Given the description of an element on the screen output the (x, y) to click on. 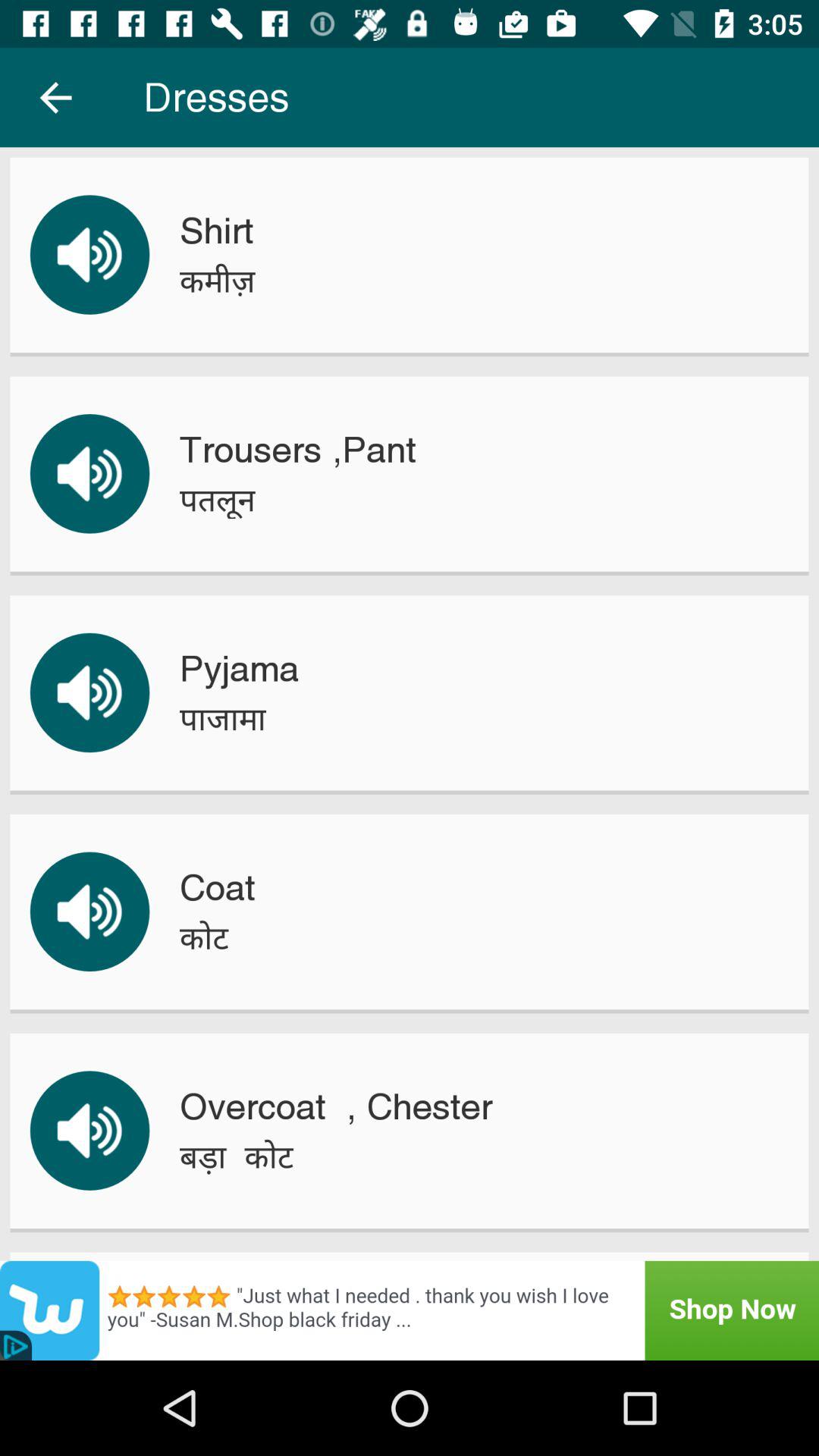
turn off item below the dresses icon (216, 230)
